Given the description of an element on the screen output the (x, y) to click on. 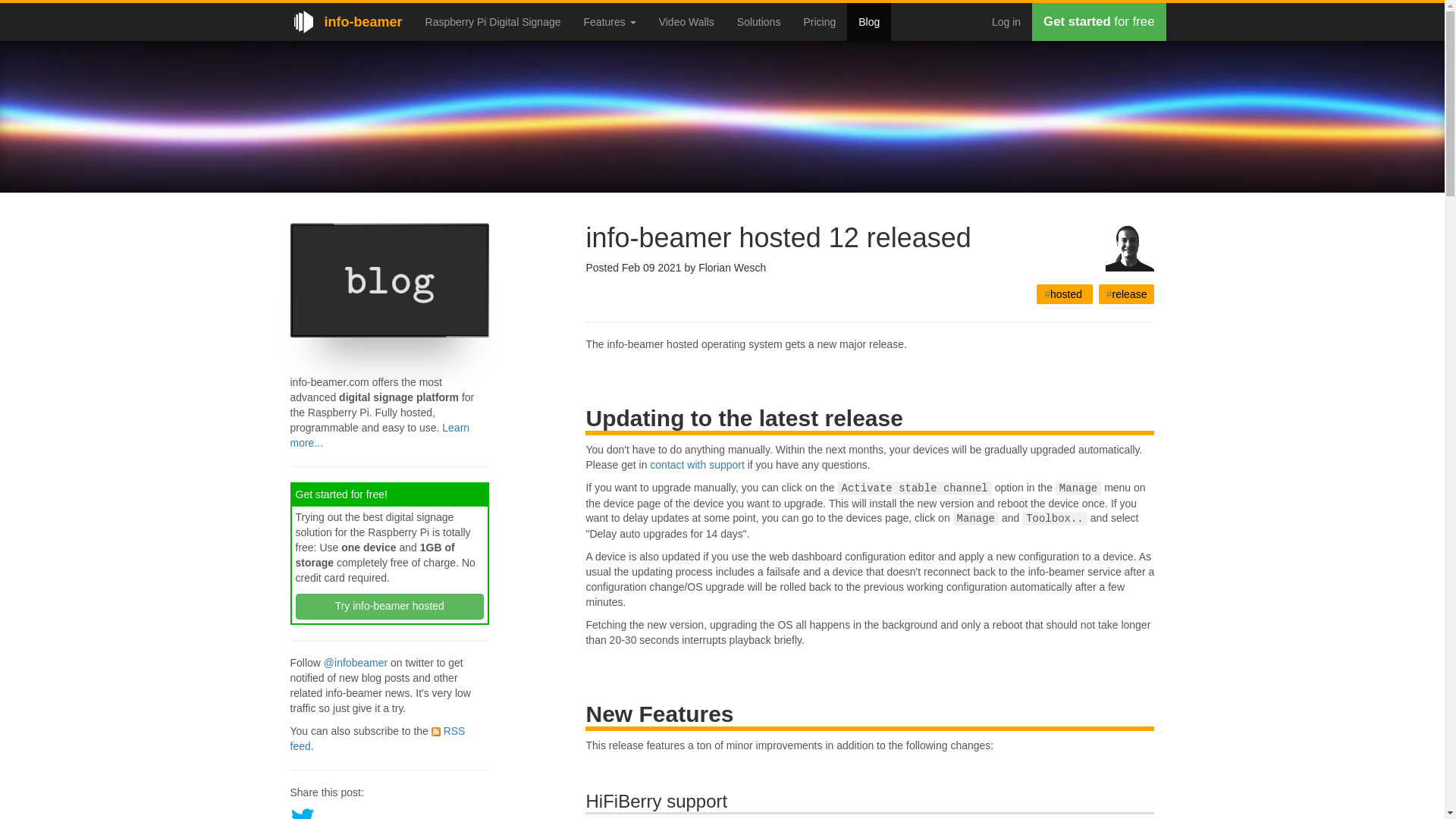
Raspberry Pi Digital Signage (492, 21)
info-beamer (346, 21)
Get started for free (1099, 21)
Solutions (758, 21)
contact with support (696, 464)
Features (609, 21)
Pricing (819, 21)
Blog (869, 21)
Log in (1005, 21)
Video Walls (686, 21)
